Given the description of an element on the screen output the (x, y) to click on. 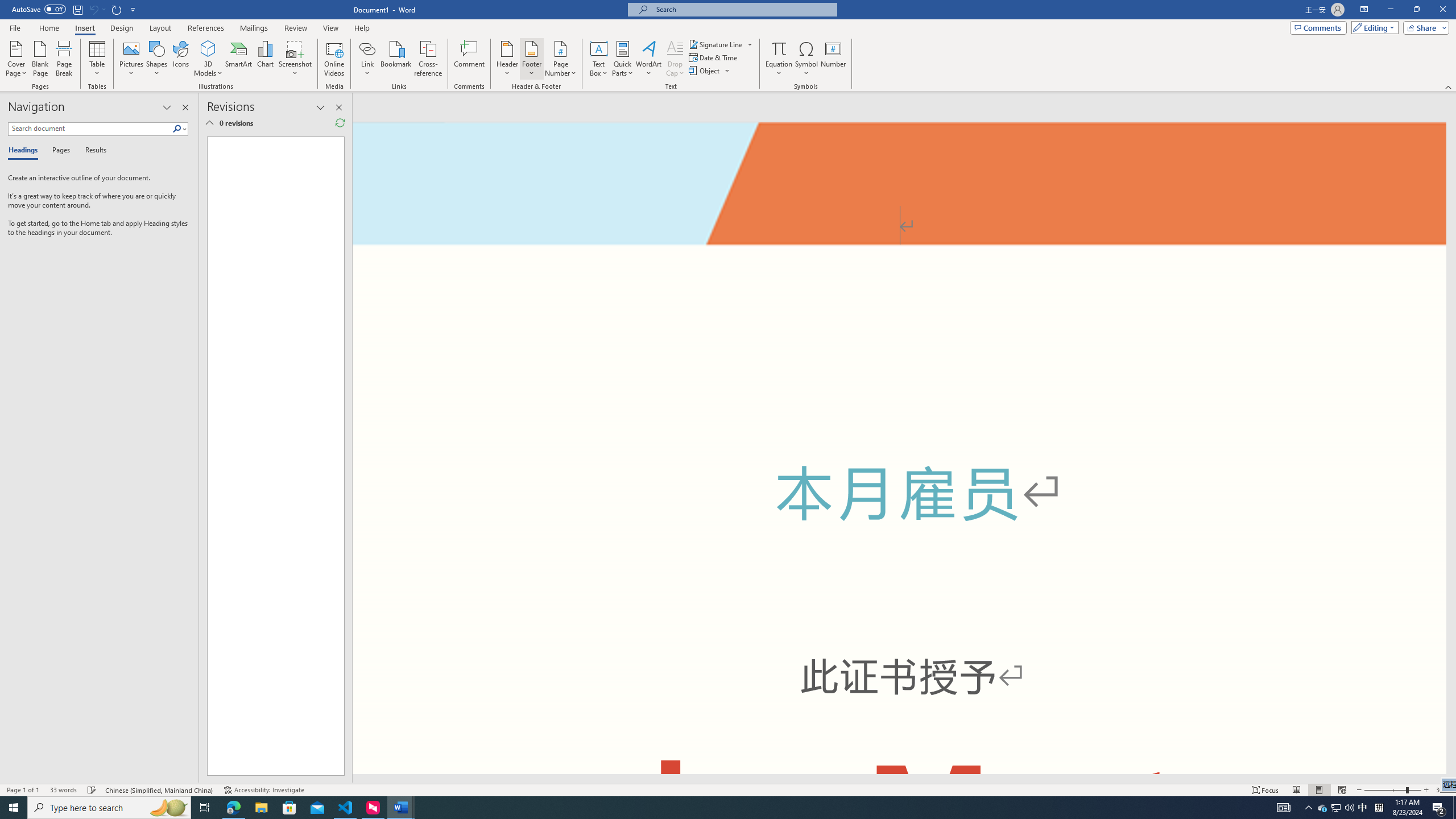
Pictures (131, 58)
Page Number (560, 58)
Page 1 content (898, 489)
Cover Page (16, 58)
Zoom 308% (1443, 790)
Show Detailed Summary (209, 122)
